Given the description of an element on the screen output the (x, y) to click on. 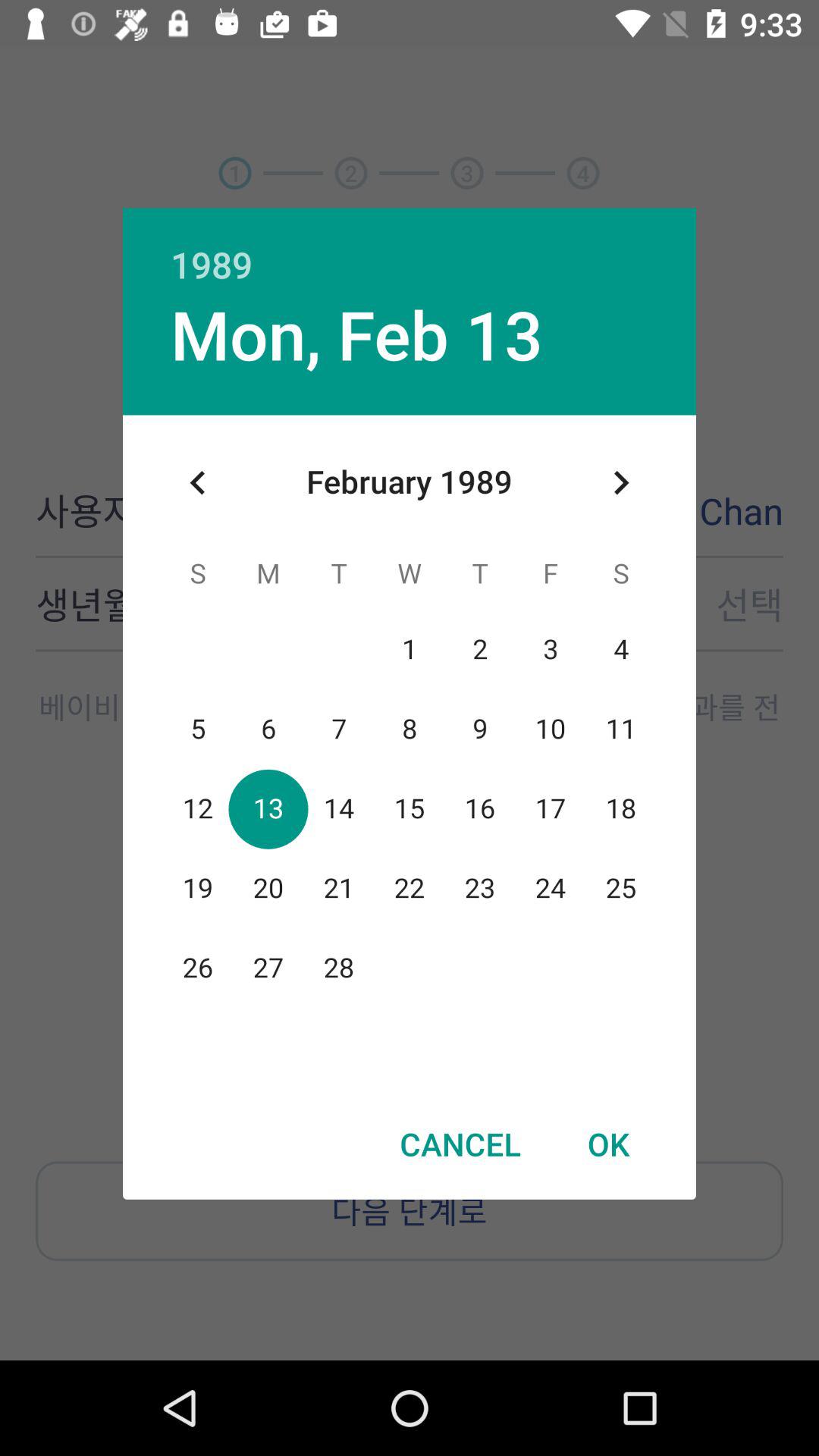
flip to cancel icon (459, 1143)
